Given the description of an element on the screen output the (x, y) to click on. 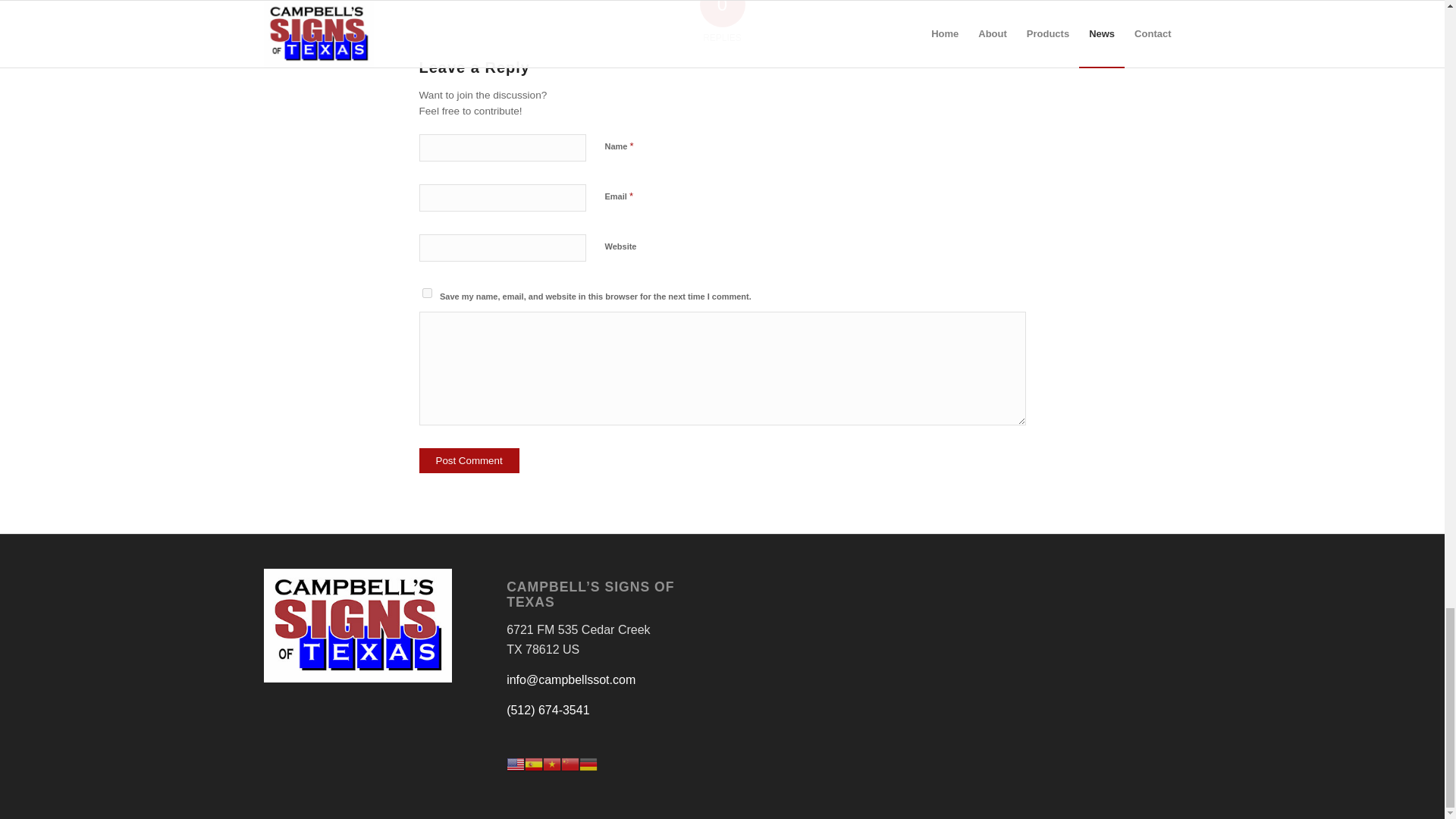
Spanish (533, 762)
English (515, 762)
Vietnamese (551, 762)
Post Comment (468, 460)
yes (426, 293)
